Given the description of an element on the screen output the (x, y) to click on. 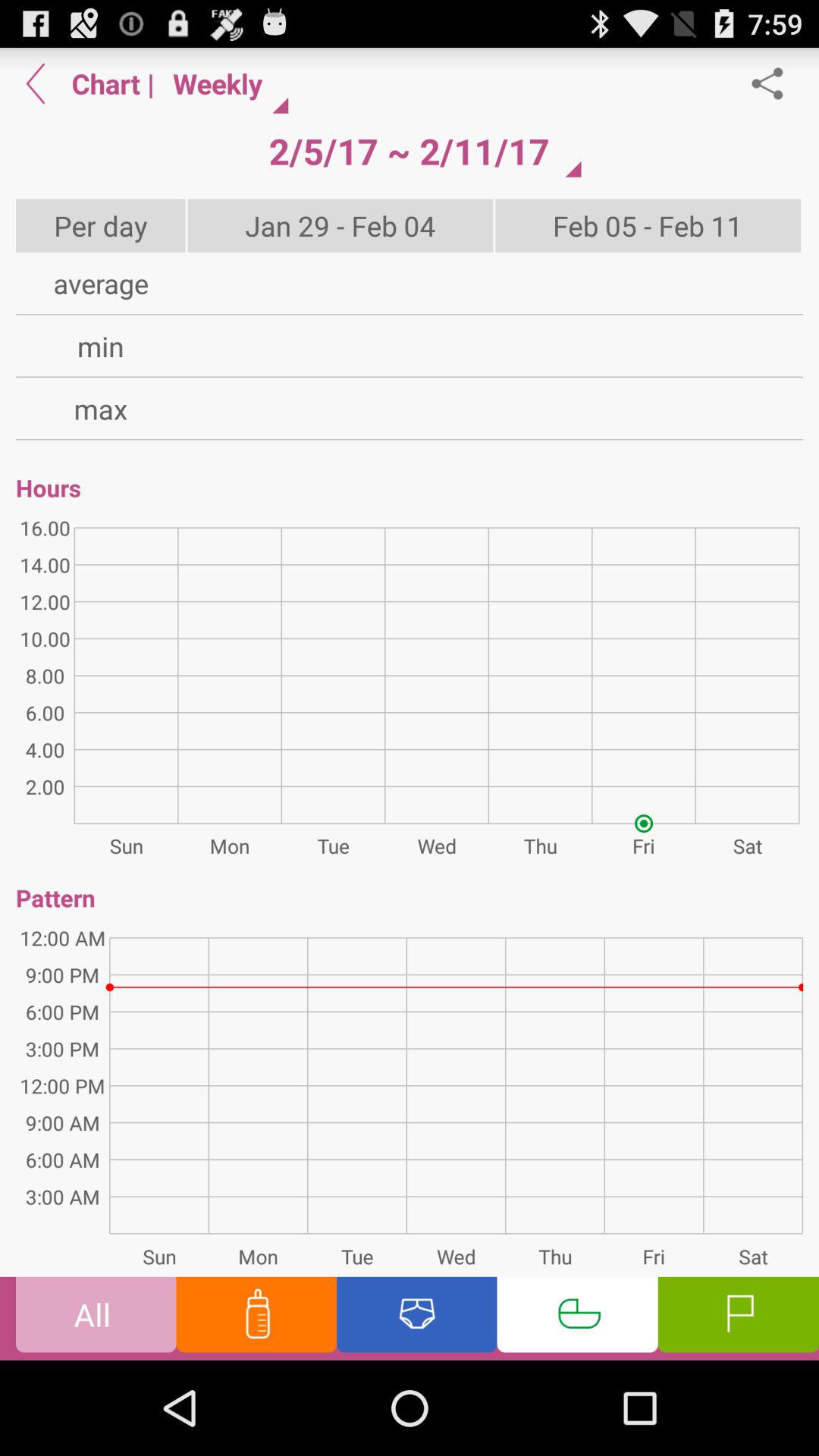
jump until the all (95, 1318)
